Given the description of an element on the screen output the (x, y) to click on. 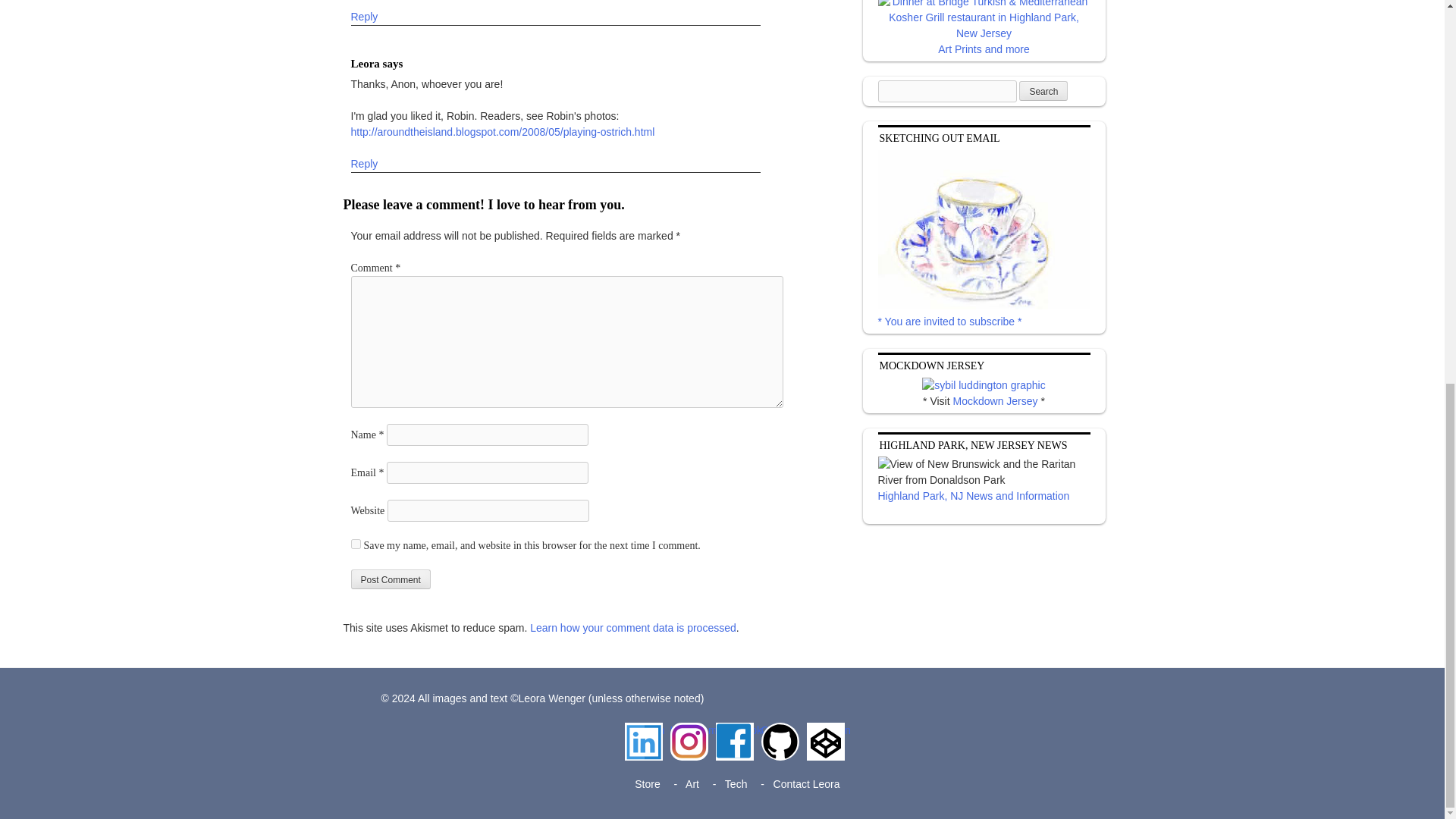
Reply (363, 16)
Reply (363, 164)
yes (354, 543)
Learn how your comment data is processed (632, 627)
Post Comment (389, 578)
Post Comment (389, 578)
Search (1043, 90)
